Given the description of an element on the screen output the (x, y) to click on. 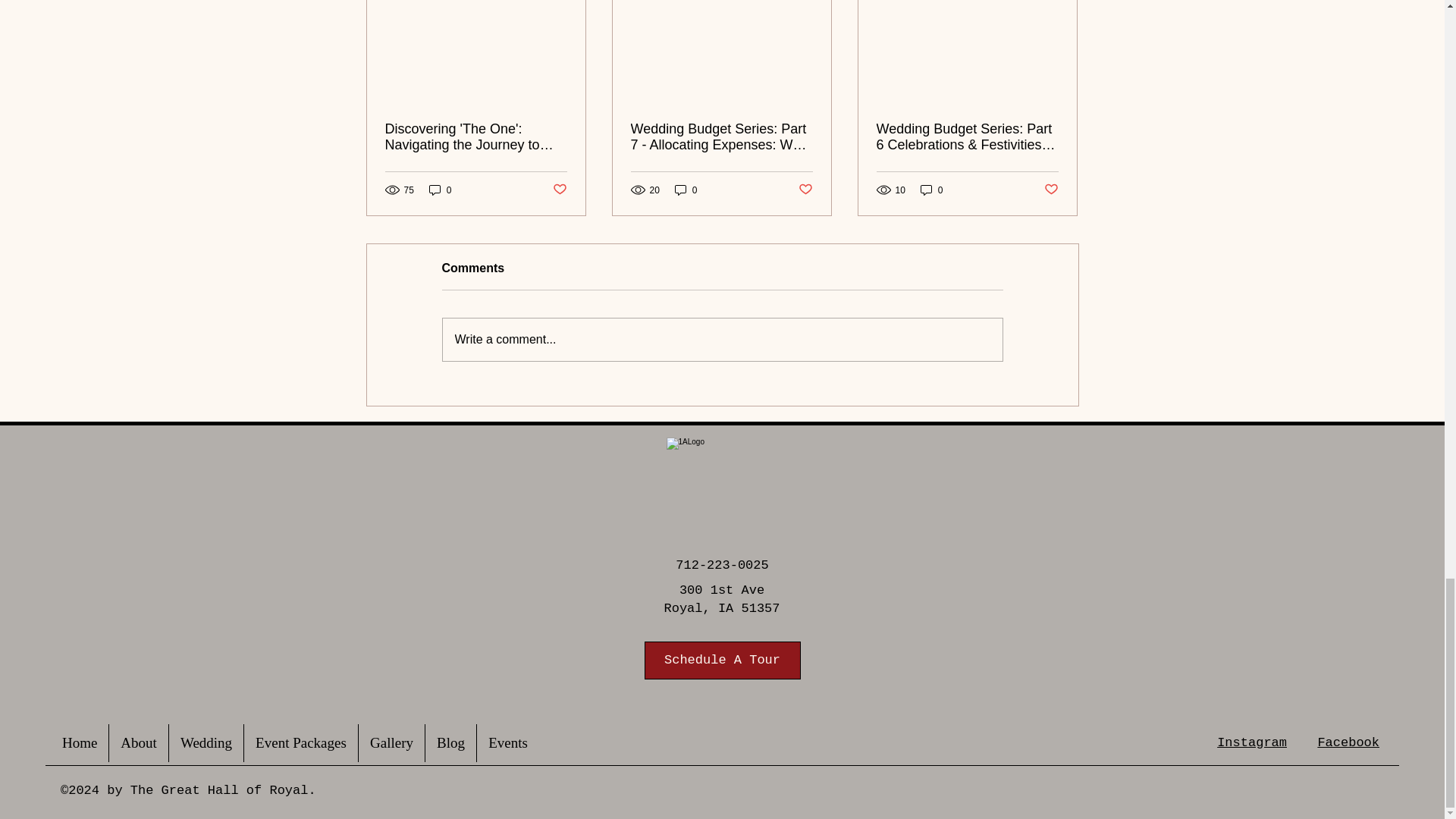
0 (685, 189)
Post not marked as liked (558, 189)
0 (440, 189)
Post not marked as liked (804, 189)
